Given the description of an element on the screen output the (x, y) to click on. 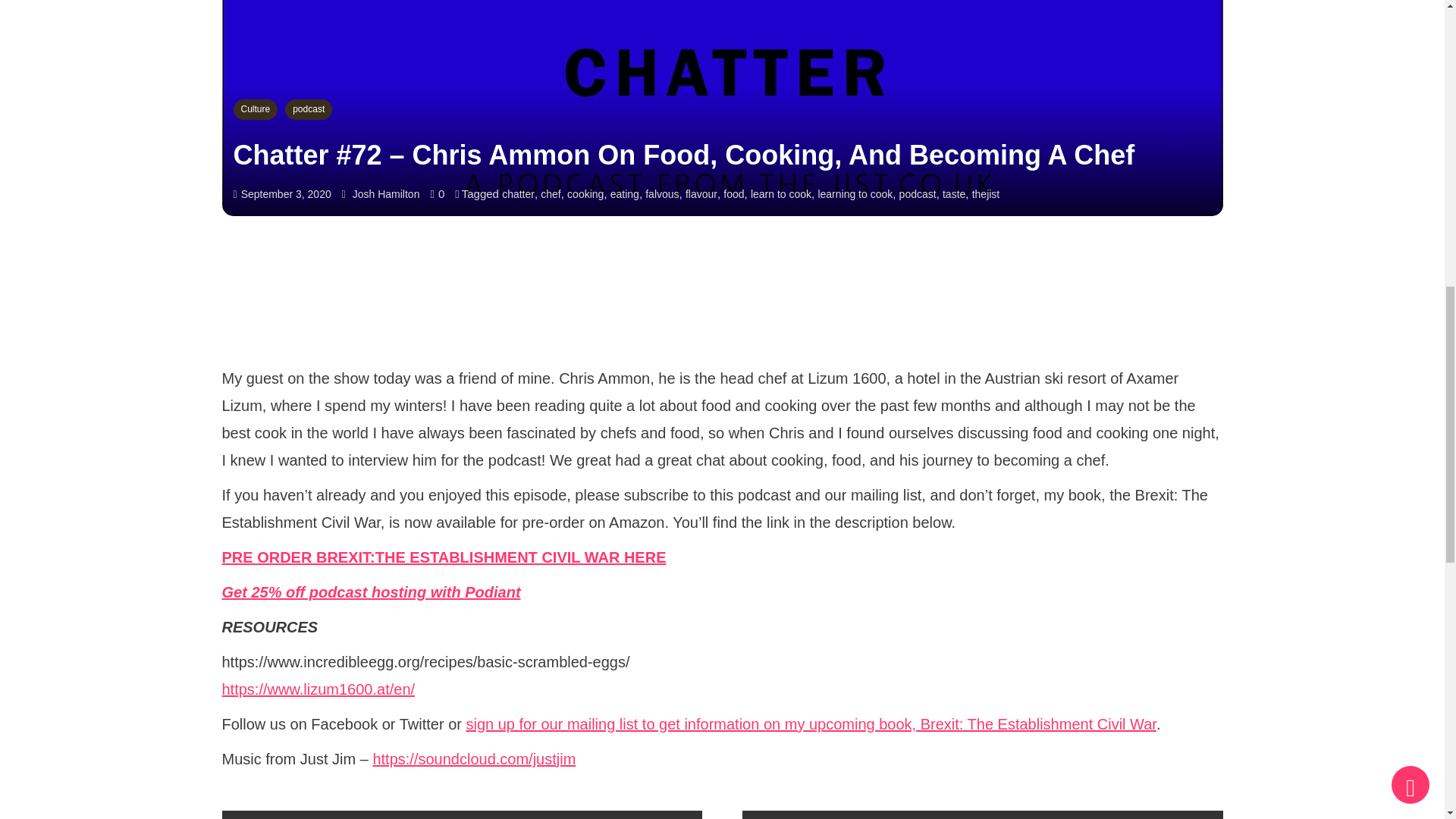
September 3, 2020 (286, 194)
chef (550, 194)
Culture (255, 109)
podcast (308, 109)
chatter (518, 194)
Josh Hamilton (386, 194)
cooking (585, 194)
